Given the description of an element on the screen output the (x, y) to click on. 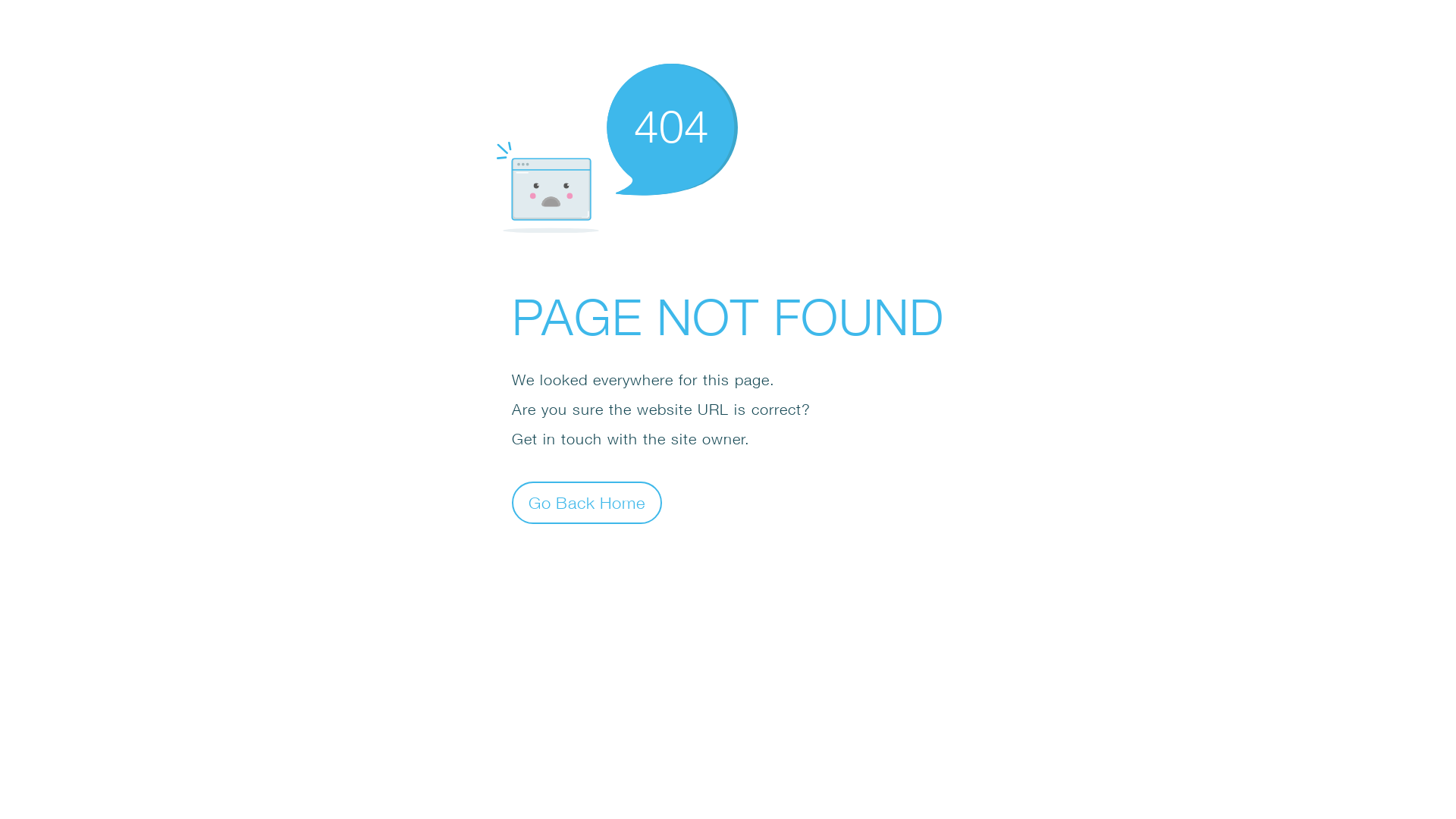
Go Back Home Element type: text (586, 502)
